Given the description of an element on the screen output the (x, y) to click on. 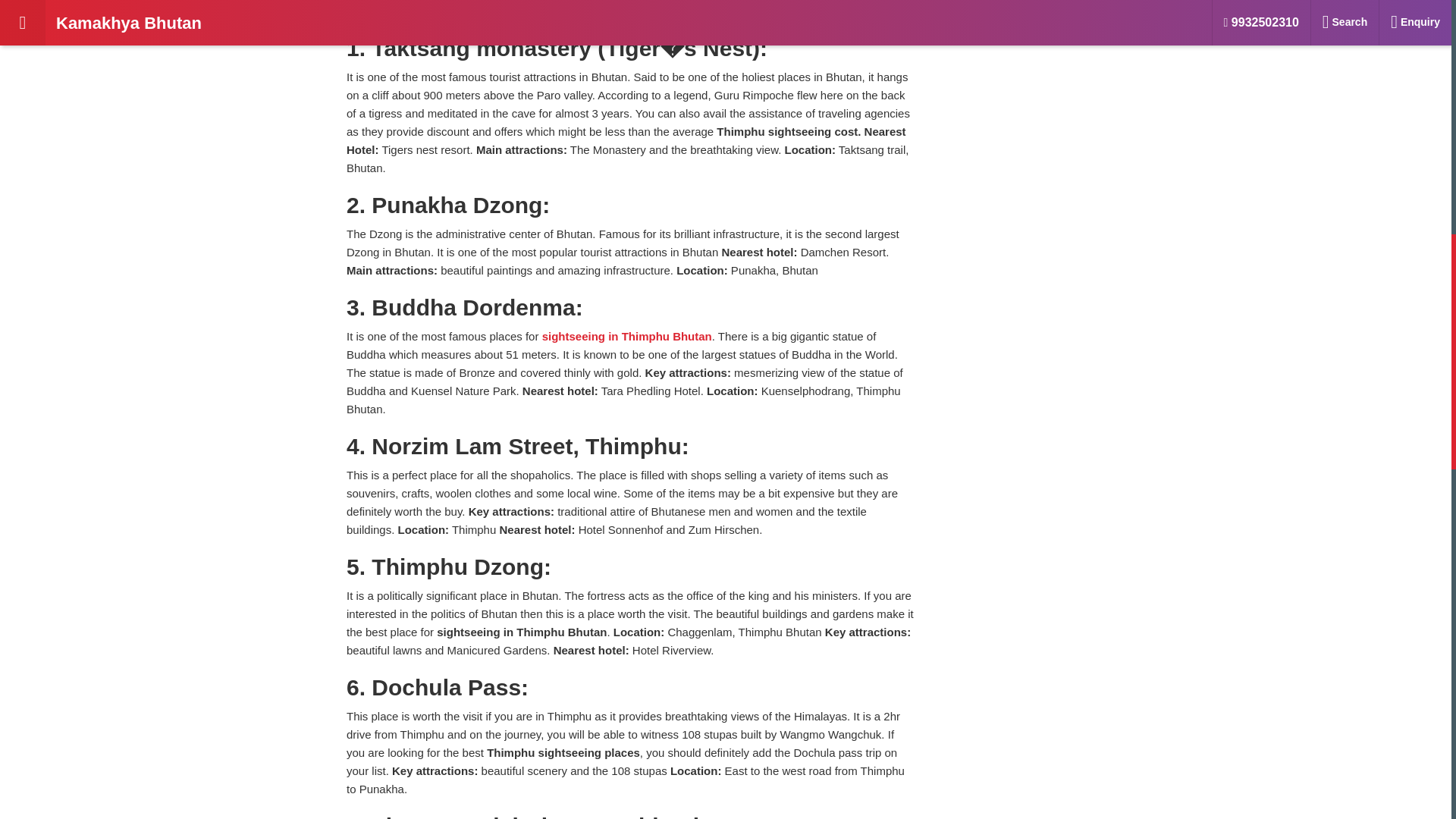
7 Romantic getaways in and around Jaigaon (1051, 3)
sightseeing in Thimphu Bhutan (626, 336)
